Given the description of an element on the screen output the (x, y) to click on. 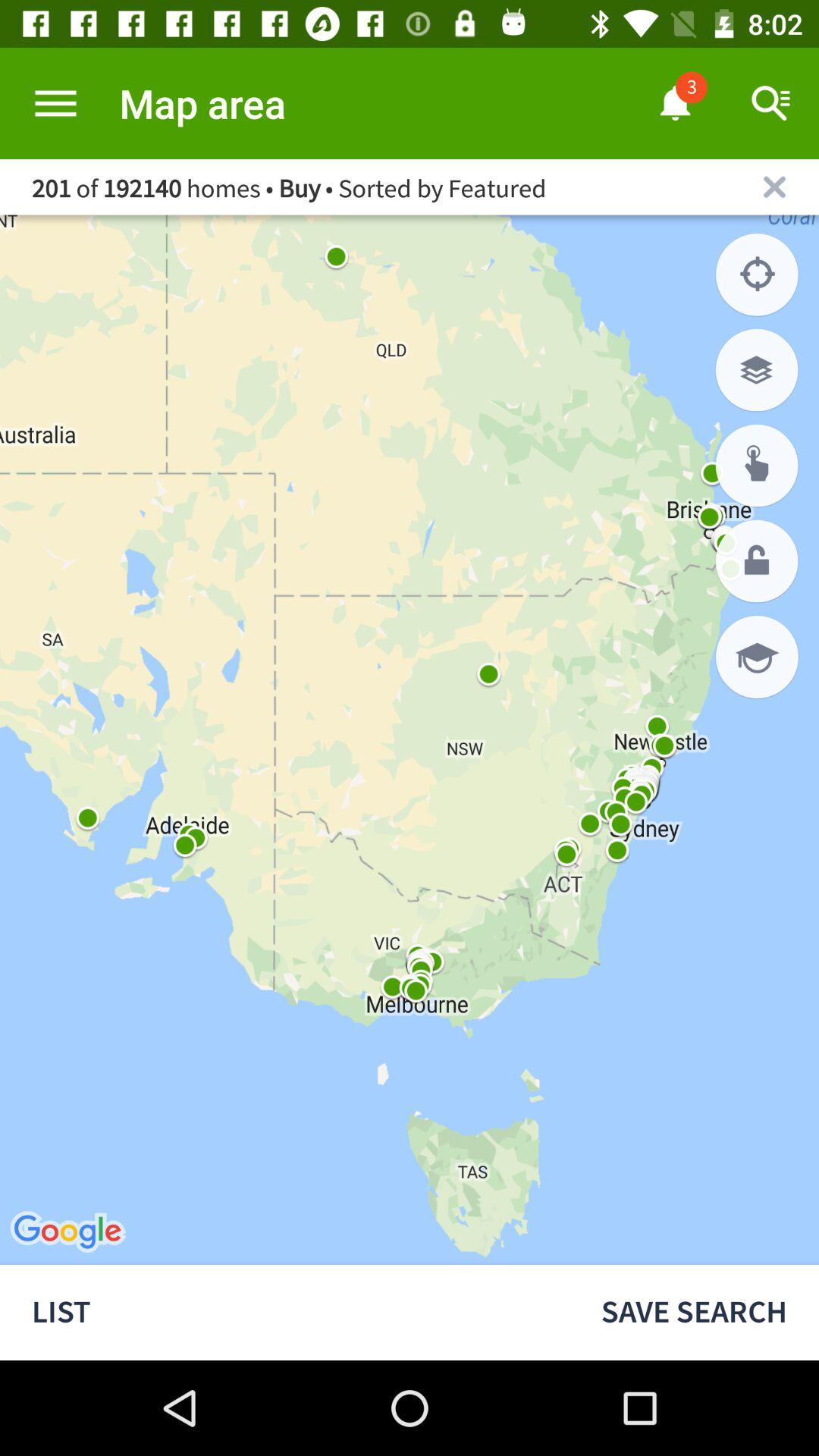
click save search at the bottom right corner (694, 1312)
